Given the description of an element on the screen output the (x, y) to click on. 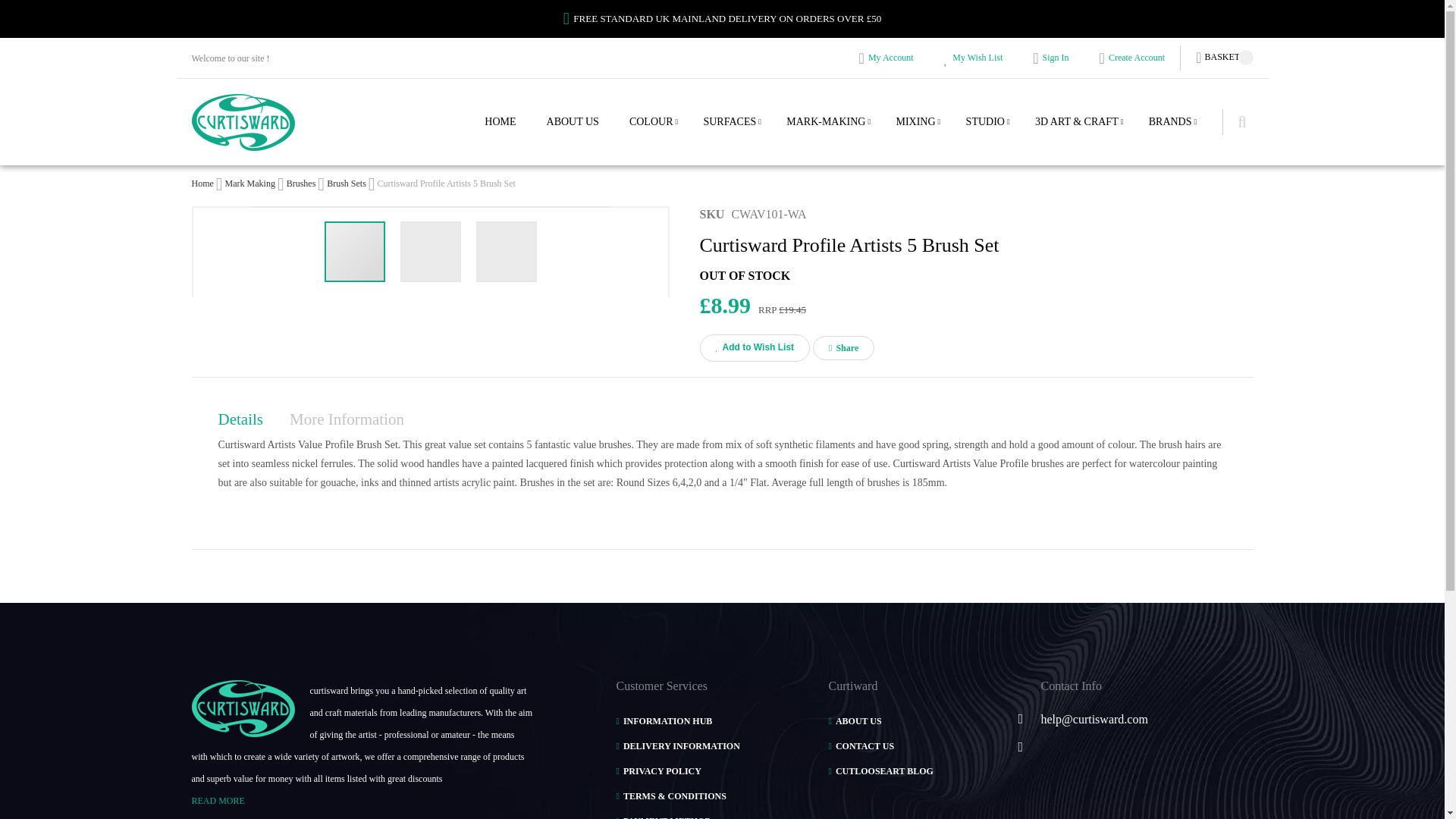
Mark-making (825, 134)
Sign In (1050, 57)
Curtis Ward (242, 122)
Create Account (1132, 57)
My Account (886, 57)
About Us (572, 134)
Surfaces (729, 134)
ABOUT US (572, 134)
My Wish List (973, 57)
